Given the description of an element on the screen output the (x, y) to click on. 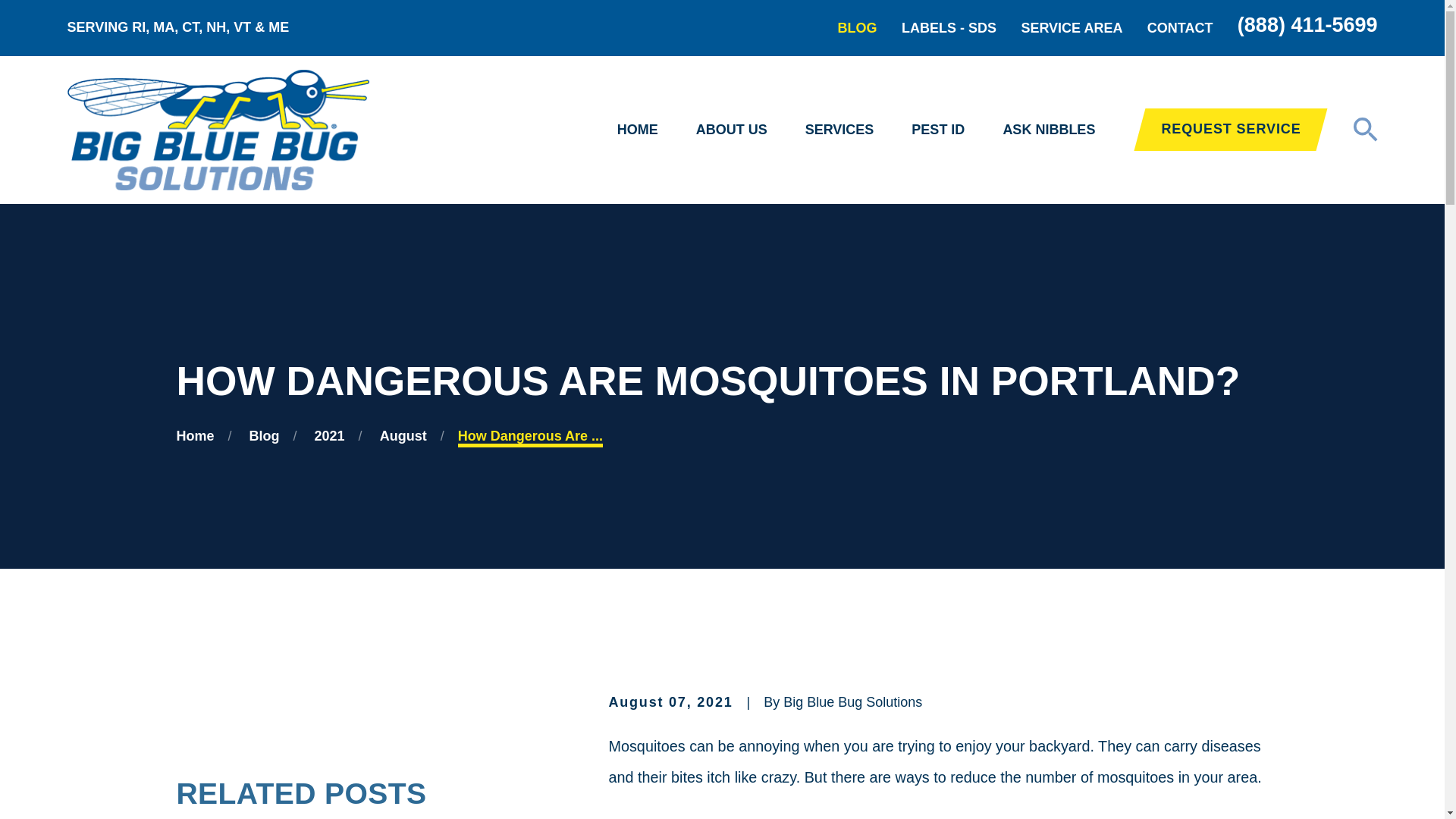
BLOG (857, 28)
ABOUT US (731, 129)
PEST ID (937, 129)
CONTACT (1179, 28)
LABELS - SDS (948, 28)
SERVICE AREA (1071, 28)
SERVICES (840, 129)
Home (217, 129)
Go Home (195, 435)
